Given the description of an element on the screen output the (x, y) to click on. 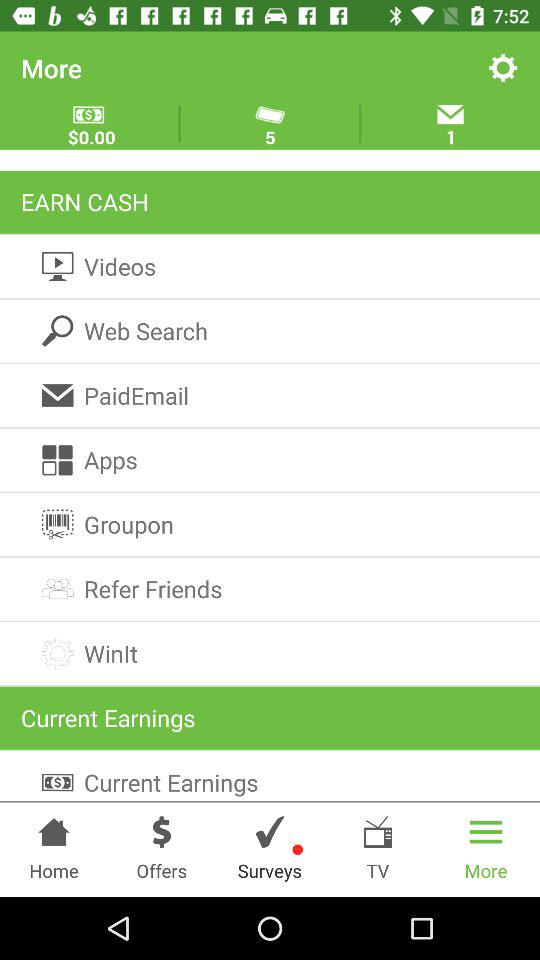
launch the item below the apps icon (270, 524)
